Given the description of an element on the screen output the (x, y) to click on. 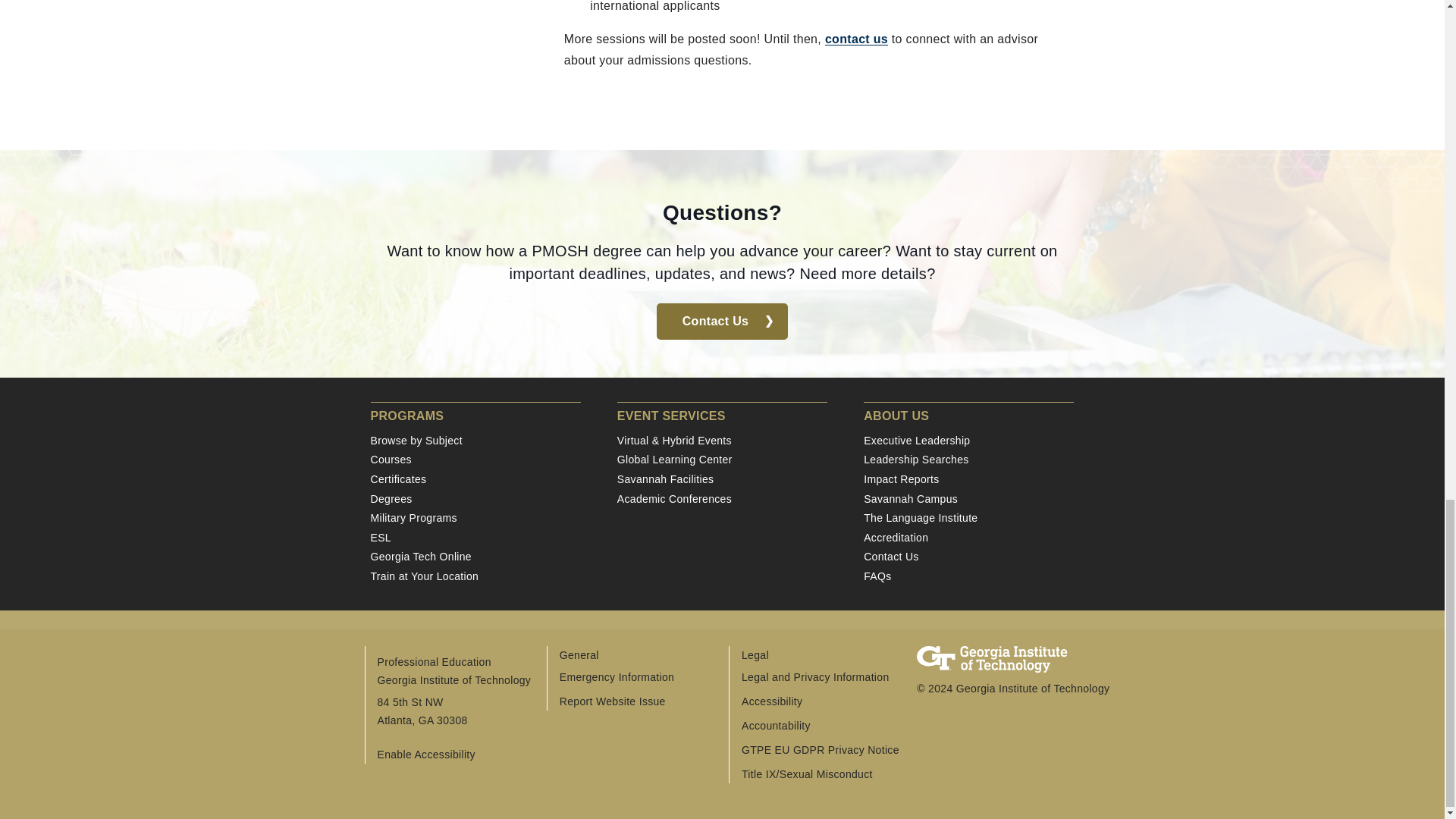
Georgia (426, 719)
